Given the description of an element on the screen output the (x, y) to click on. 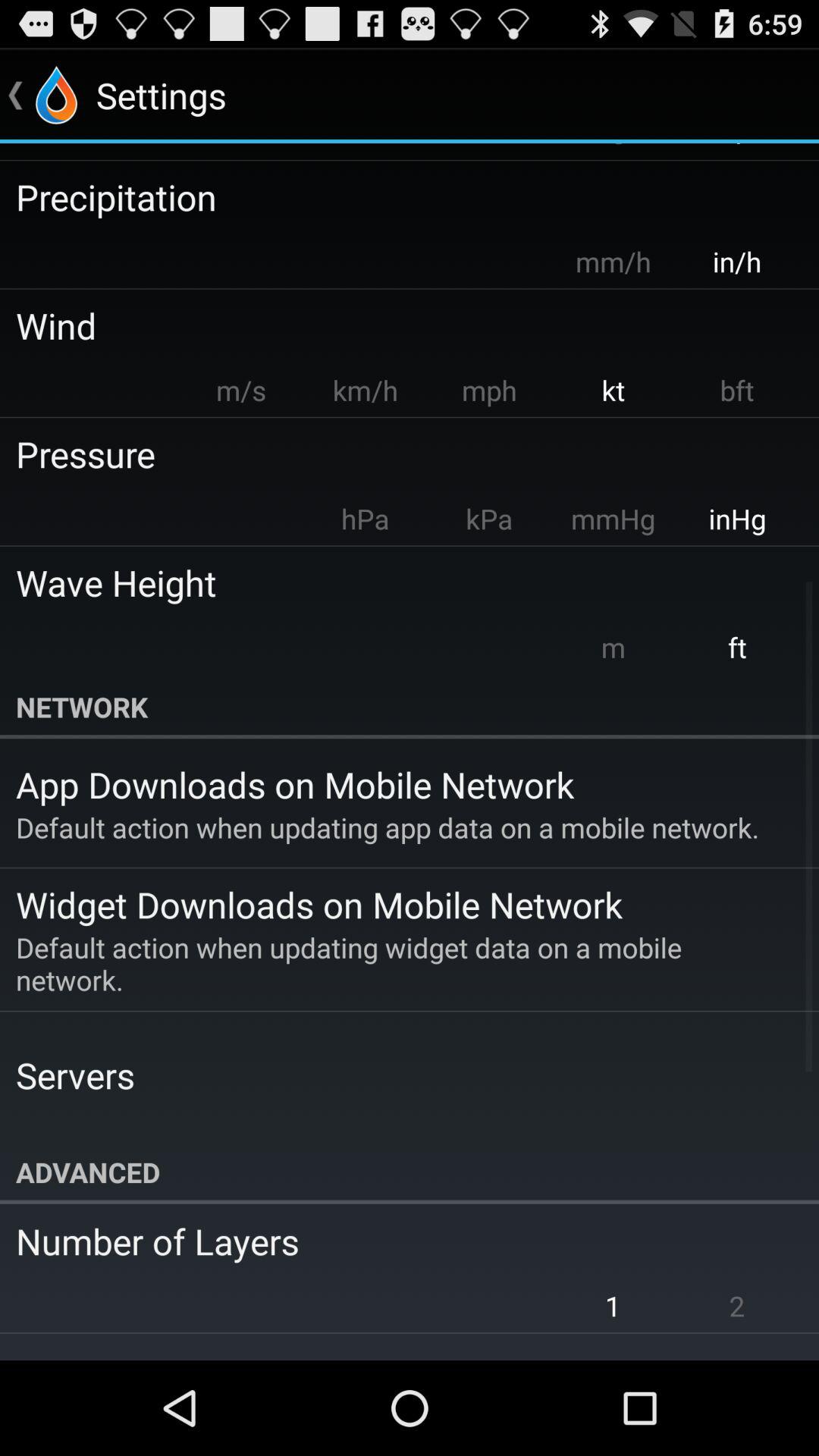
select the kpa icon (489, 518)
